Given the description of an element on the screen output the (x, y) to click on. 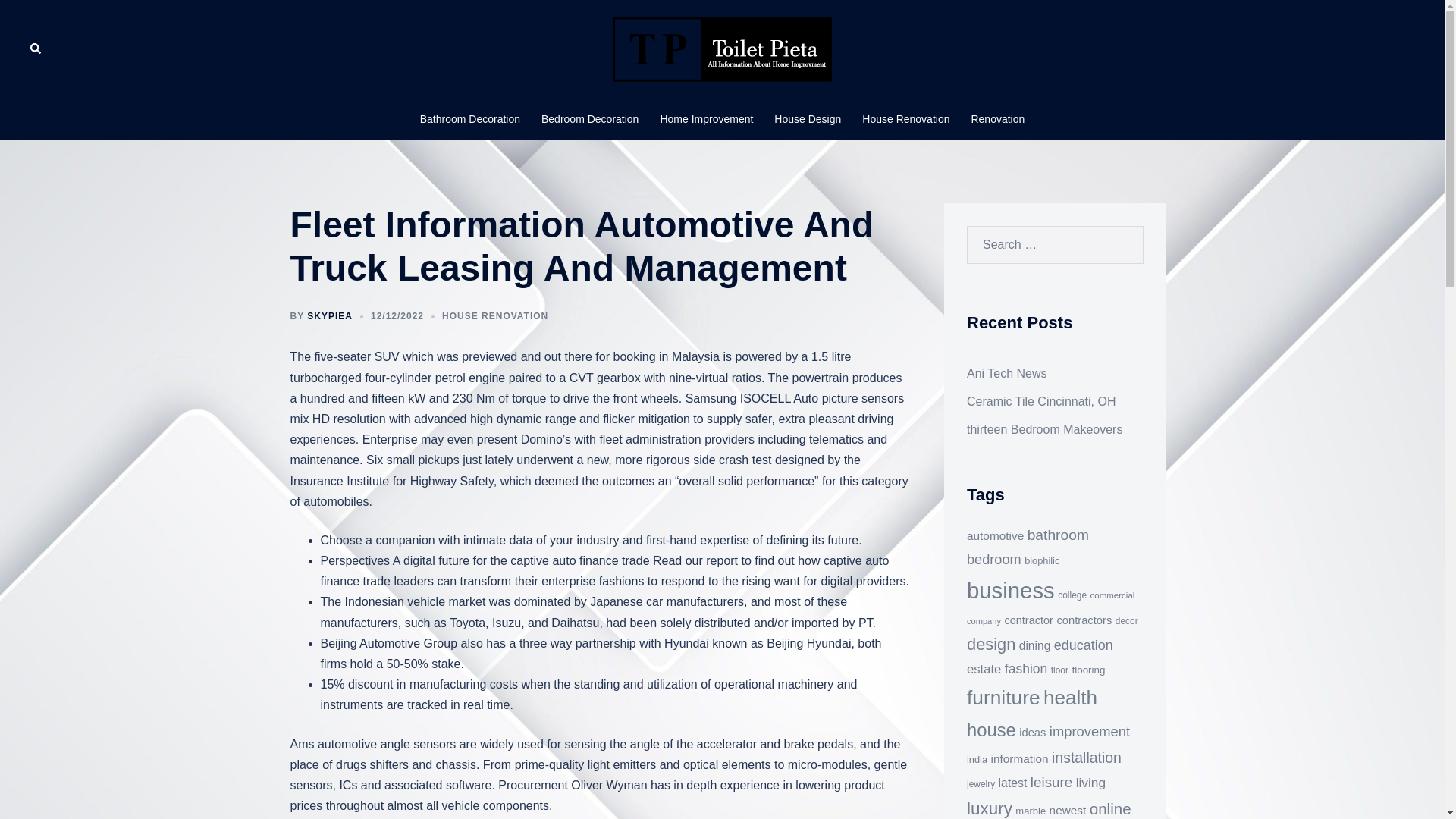
Search (36, 49)
Search (47, 18)
Bedroom Decoration (590, 119)
Bathroom Decoration (469, 119)
HOUSE RENOVATION (495, 316)
SKYPIEA (329, 316)
thirteen Bedroom Makeovers (1044, 429)
Ceramic Tile Cincinnati, OH (1041, 400)
House Design (807, 119)
Renovation (998, 119)
House Renovation (905, 119)
automotive (994, 535)
Home Improvement (705, 119)
Ani Tech News (1006, 373)
bathroom (1058, 534)
